Given the description of an element on the screen output the (x, y) to click on. 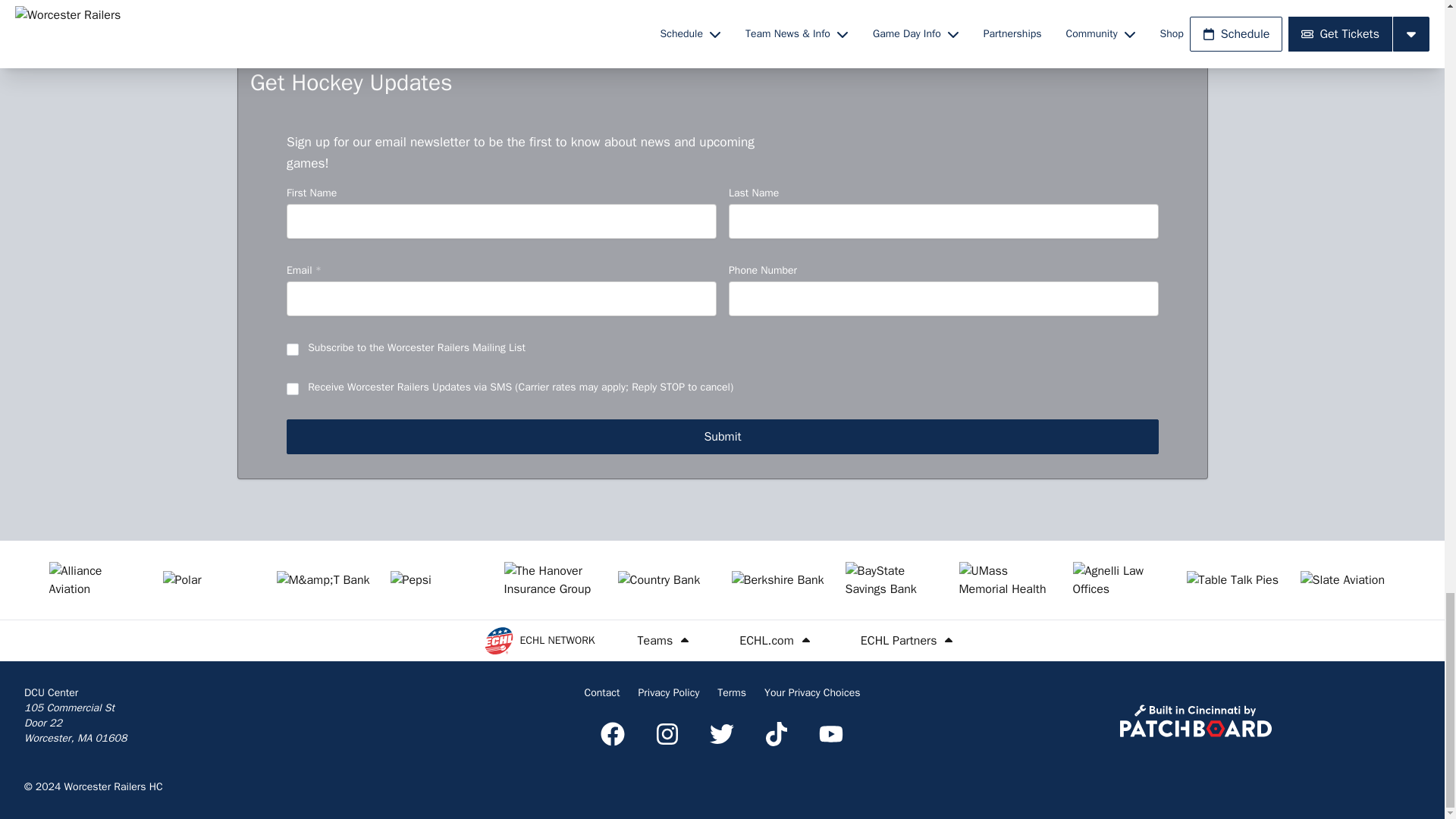
on (292, 349)
Instagram (667, 733)
YouTube (830, 733)
Twitter (721, 733)
Facebook (612, 733)
Built in Cincinnati by Patchboard (1195, 720)
TikTok (776, 733)
on (292, 389)
